Given the description of an element on the screen output the (x, y) to click on. 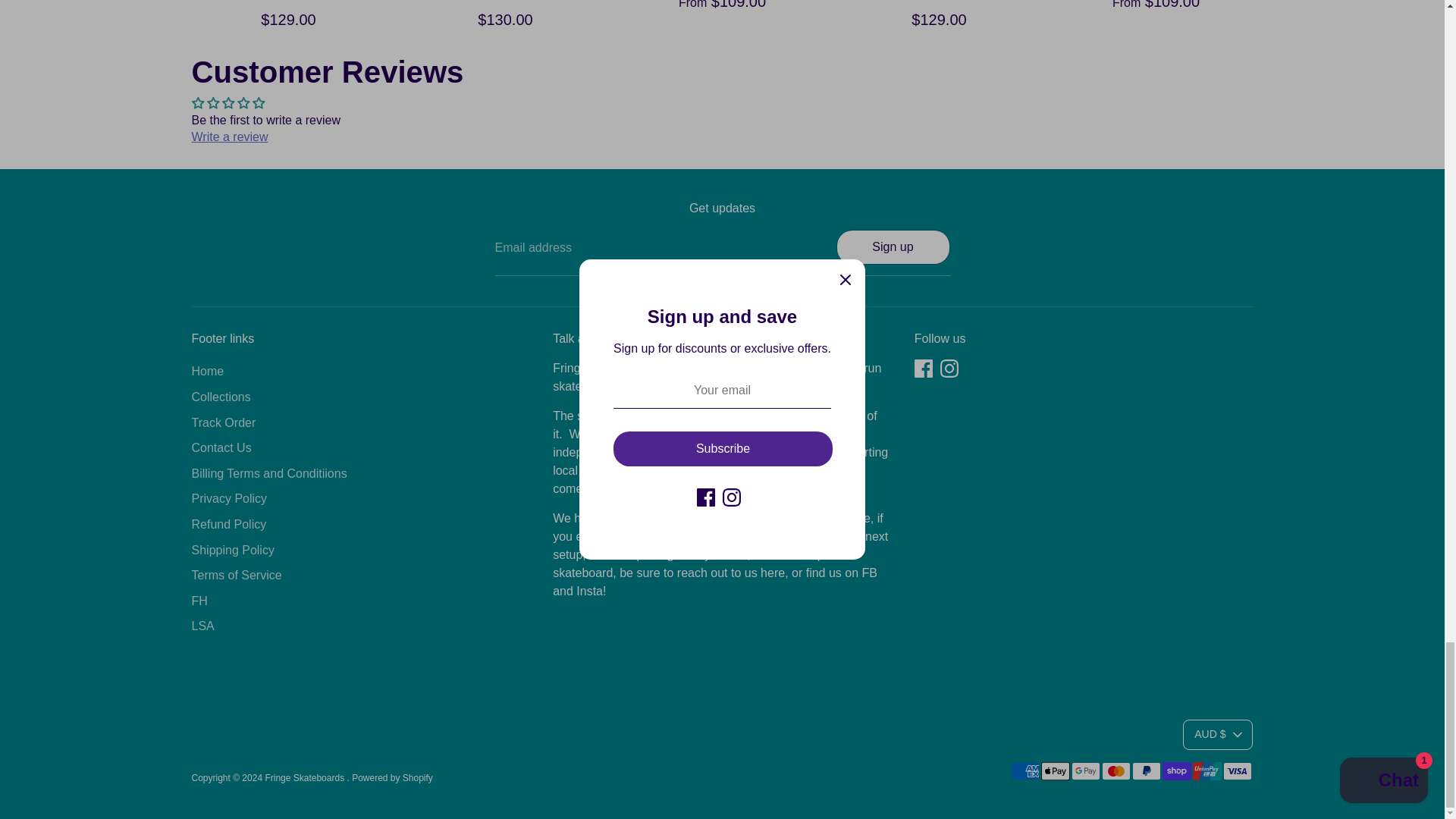
Visa (1236, 771)
Shop Pay (1176, 771)
PayPal (1145, 771)
American Express (1024, 771)
Union Pay (1206, 771)
Apple Pay (1054, 771)
Google Pay (1084, 771)
Mastercard (1114, 771)
